Given the description of an element on the screen output the (x, y) to click on. 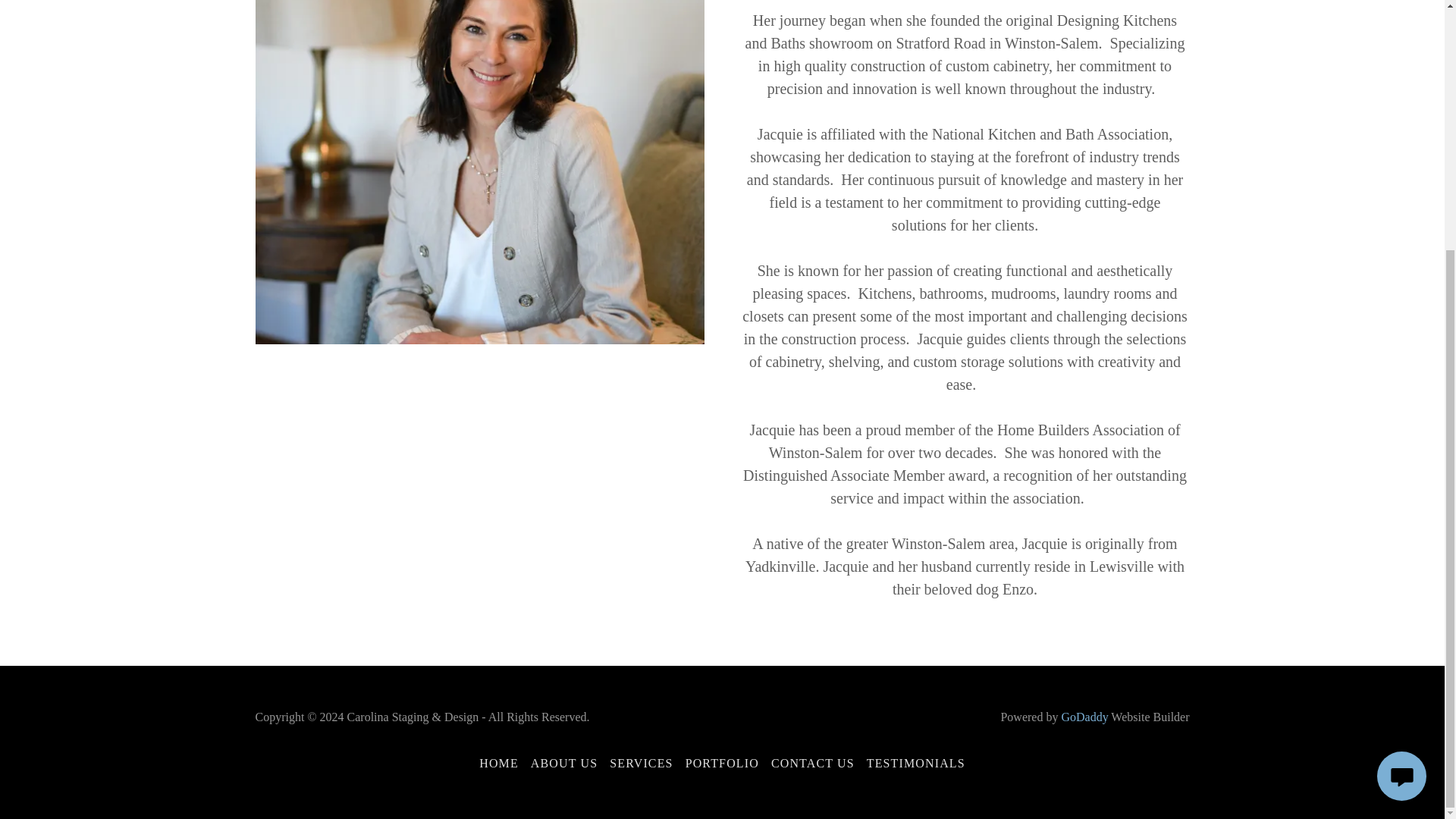
TESTIMONIALS (915, 763)
CONTACT US (812, 763)
SERVICES (641, 763)
GoDaddy (1084, 716)
PORTFOLIO (722, 763)
HOME (498, 763)
ABOUT US (564, 763)
